Given the description of an element on the screen output the (x, y) to click on. 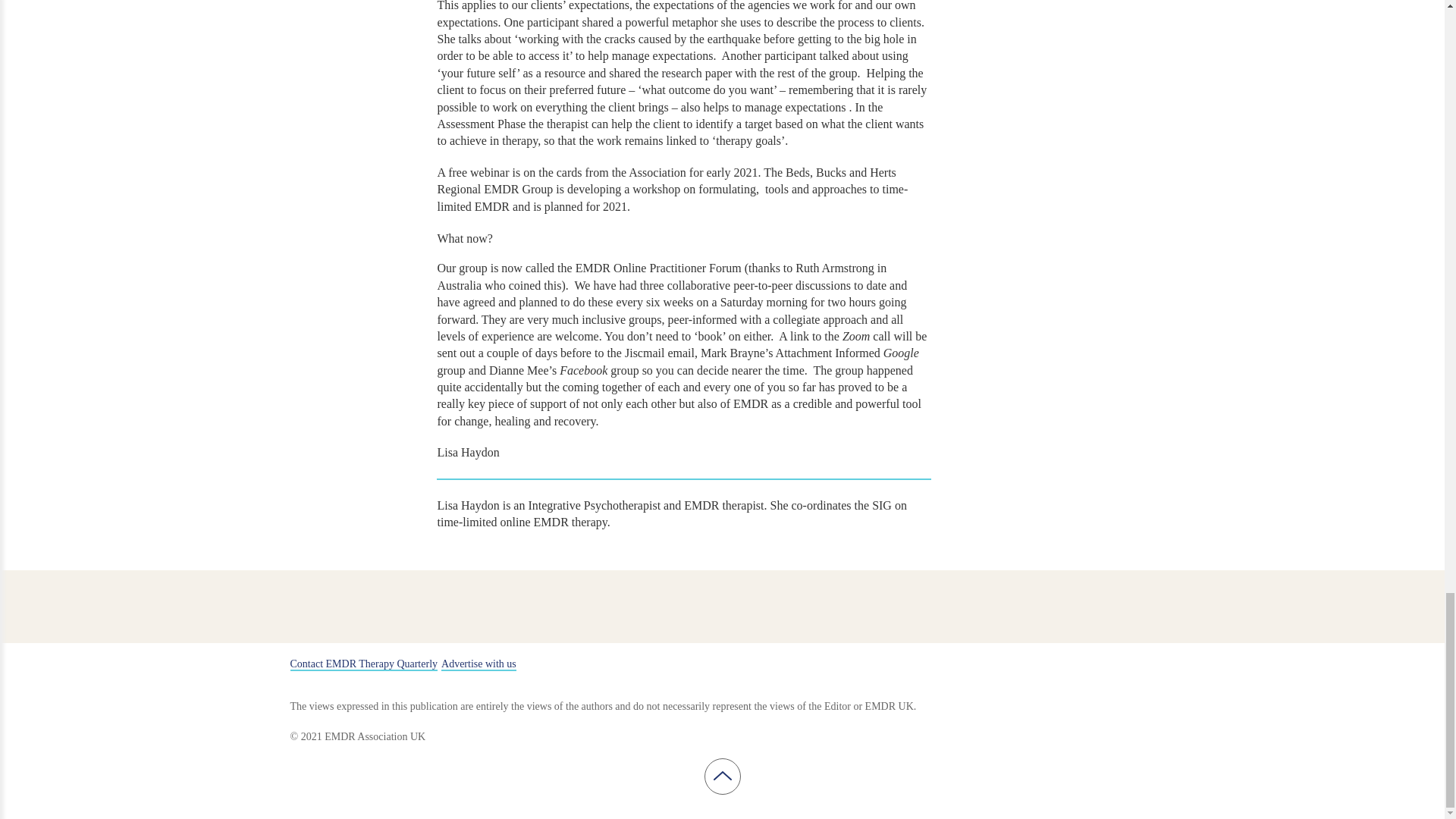
back to top (722, 775)
back to top (721, 776)
Contact EMDR Therapy Quarterly (363, 664)
Advertise with us (478, 664)
